Given the description of an element on the screen output the (x, y) to click on. 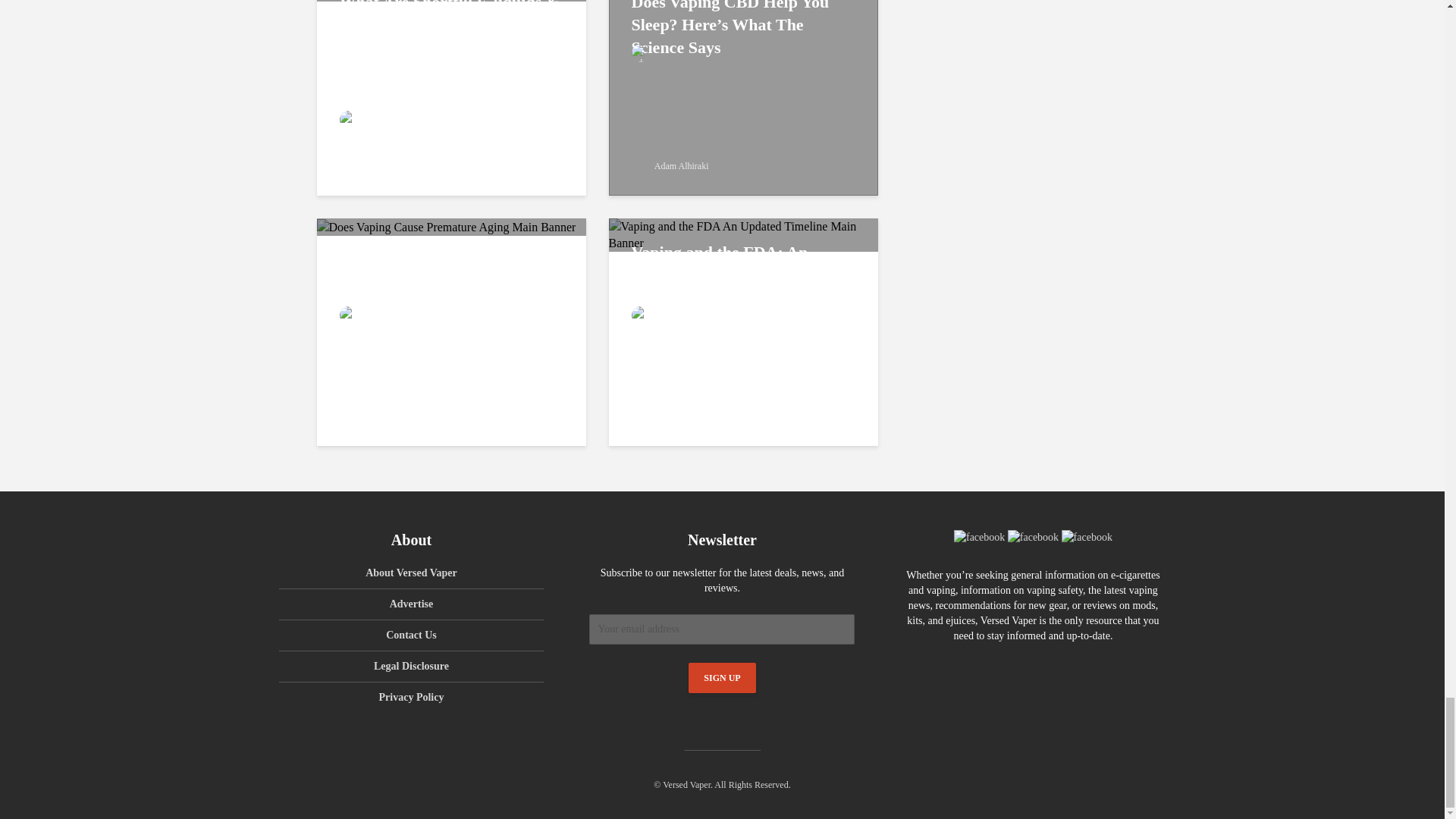
Vaping and the FDA: An Updated Timeline (742, 233)
SIGN UP (721, 677)
Vape Face: Does Vaping Cause Premature Aging? (446, 226)
